Given the description of an element on the screen output the (x, y) to click on. 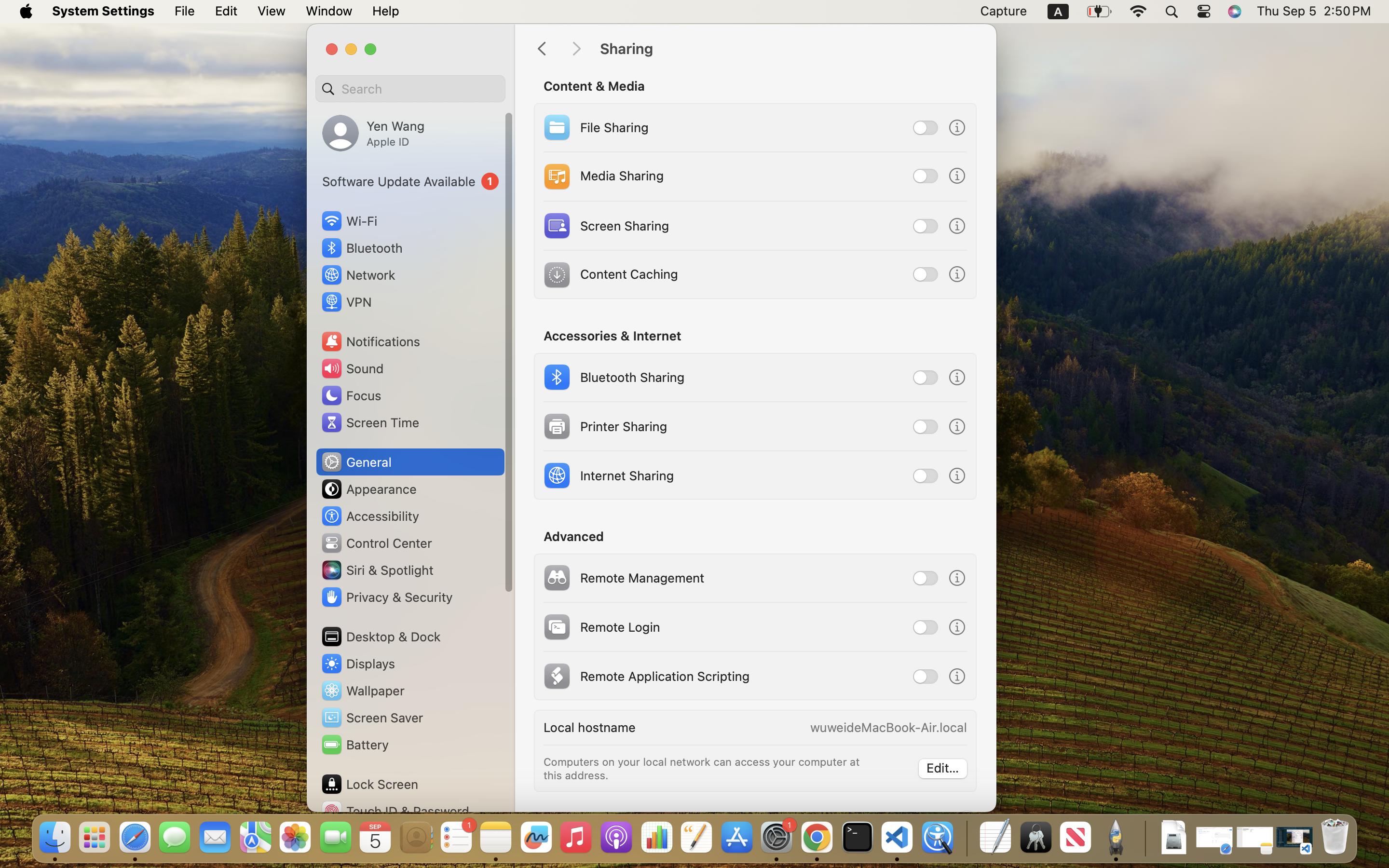
Control Center Element type: AXStaticText (376, 542)
Media Sharing Element type: AXStaticText (602, 176)
General Element type: AXStaticText (355, 461)
Network Element type: AXStaticText (357, 274)
Content Caching Element type: AXStaticText (609, 274)
